Given the description of an element on the screen output the (x, y) to click on. 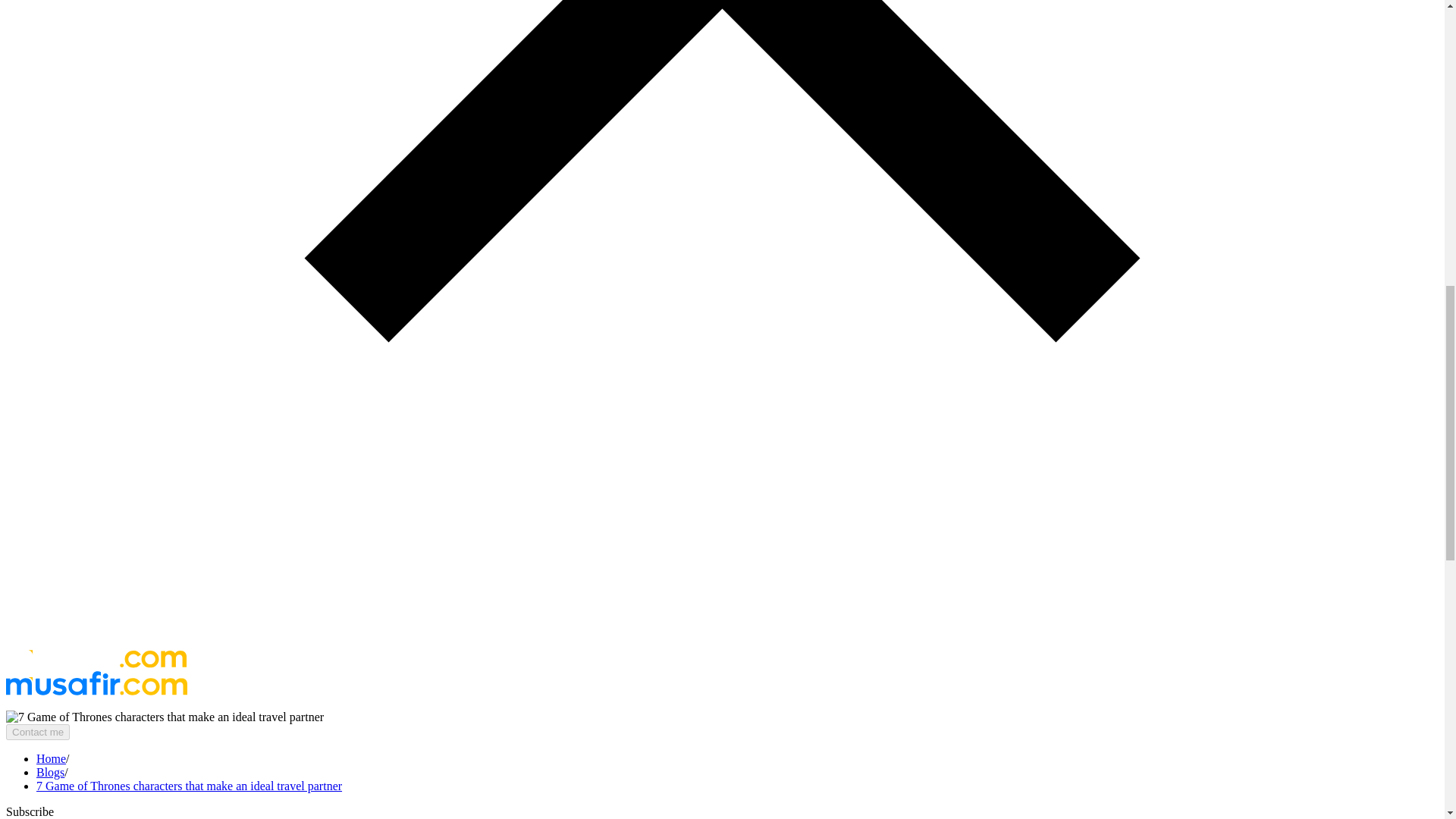
Contact me (37, 731)
Blogs (50, 771)
Home (50, 758)
Subscribe (29, 811)
